Given the description of an element on the screen output the (x, y) to click on. 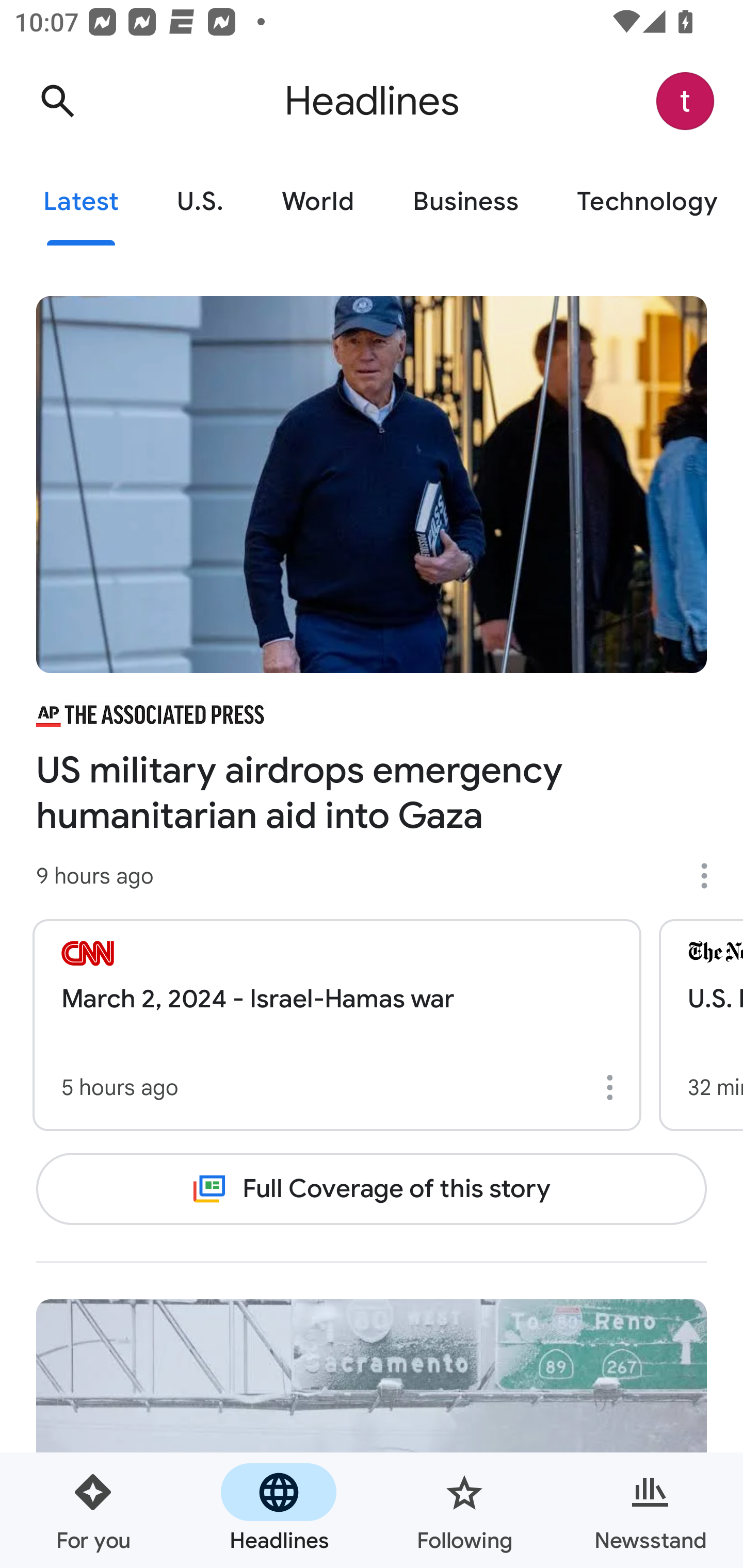
Search (57, 100)
U.S. (199, 202)
World (317, 202)
Business (465, 202)
Technology (645, 202)
More options (711, 875)
More options (613, 1086)
Full Coverage of this story (371, 1188)
For you (92, 1509)
Headlines (278, 1509)
Following (464, 1509)
Newsstand (650, 1509)
